Given the description of an element on the screen output the (x, y) to click on. 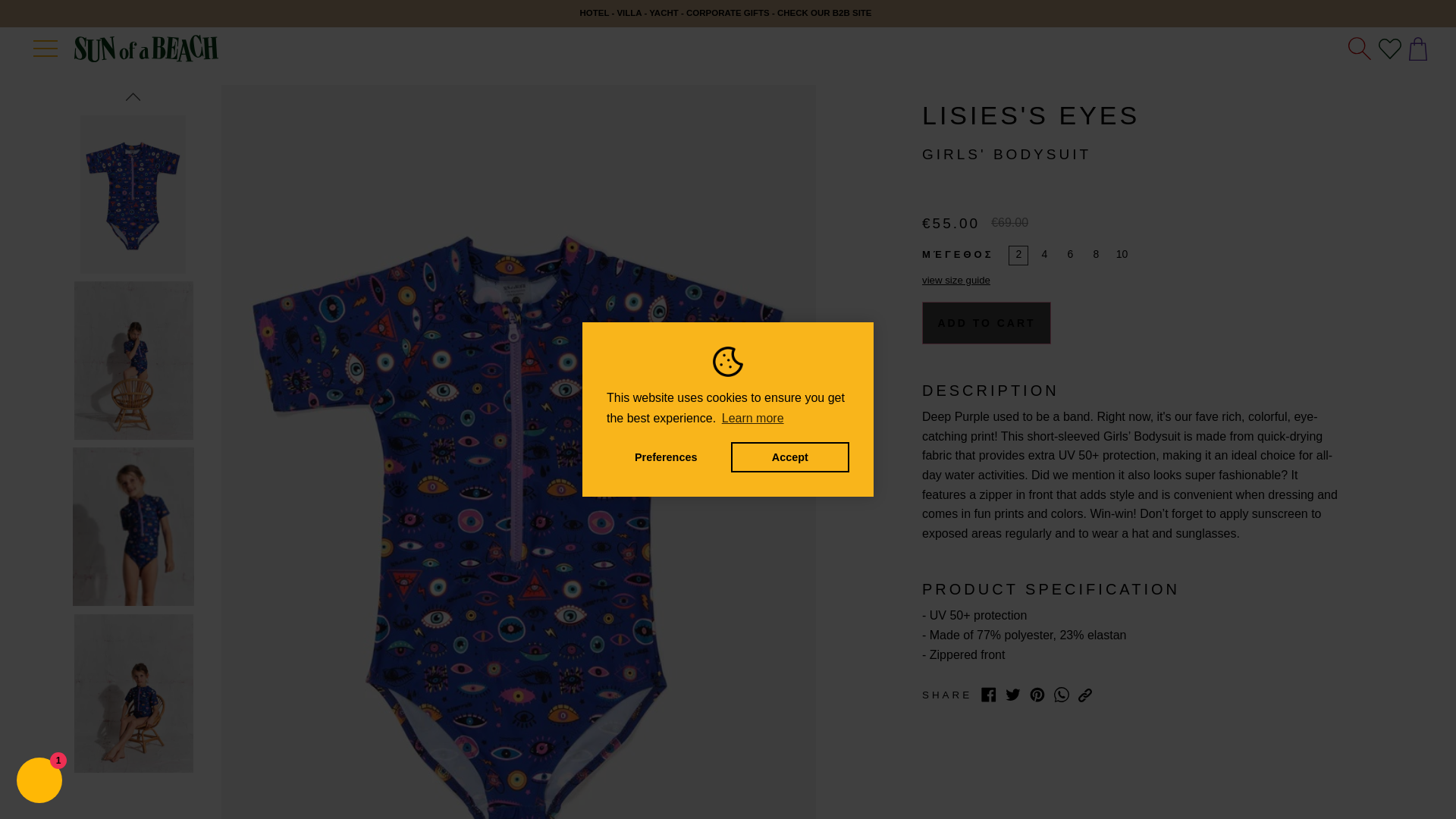
Share on Twitter (1013, 694)
Accept (789, 457)
Share on Facebook (988, 694)
Pin on Pinterest (1037, 694)
Preferences (666, 457)
Learn more (752, 418)
Shopify online store chat (38, 781)
Share on WhatsApp (1061, 694)
